Given the description of an element on the screen output the (x, y) to click on. 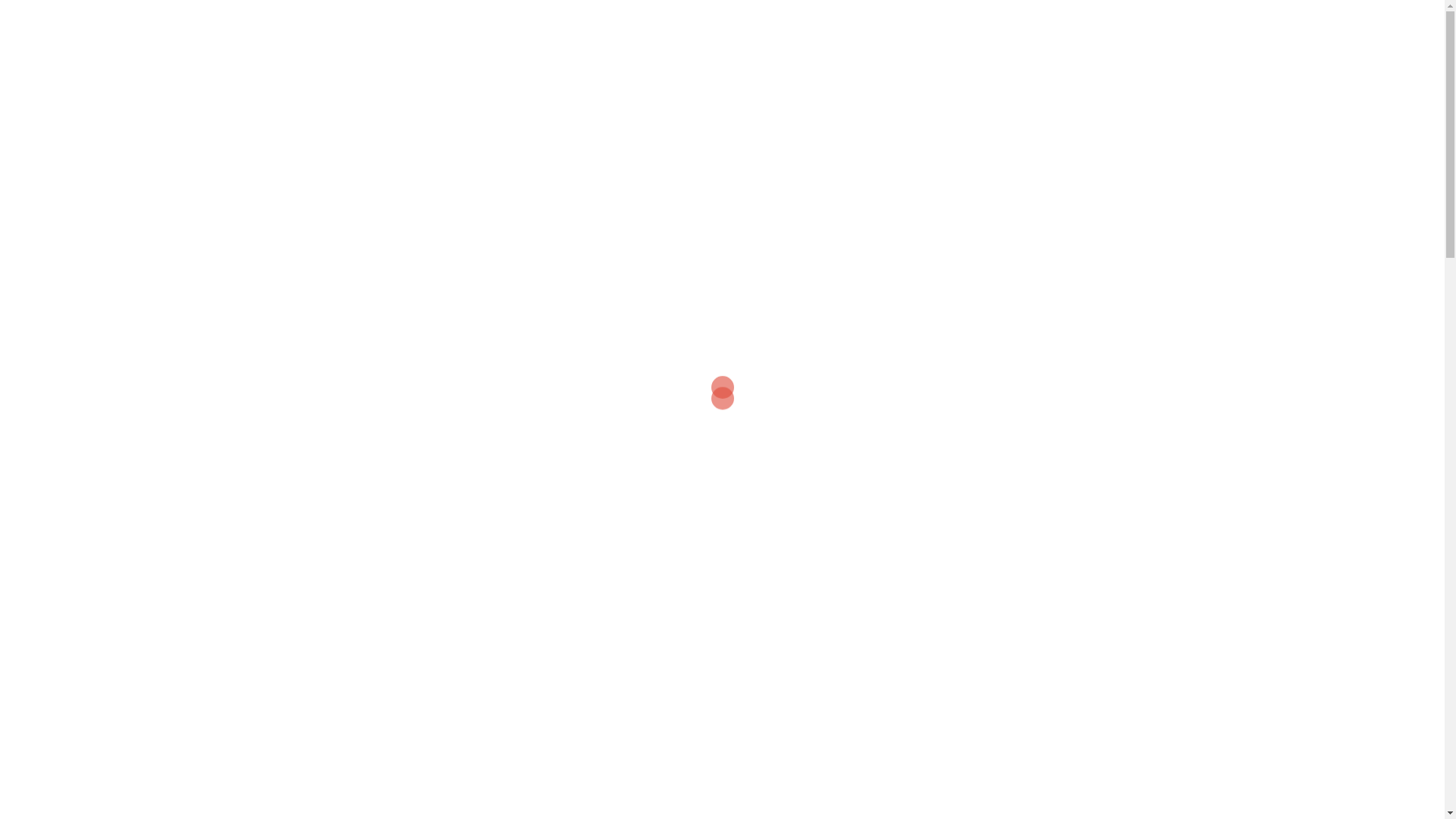
Nous contacter Element type: text (1061, 68)
BD Element type: text (969, 755)
Presse Element type: text (865, 68)
Informations pratiques Element type: text (654, 68)
Auteurs 2020 Element type: text (435, 68)
Rechercher Element type: text (61, 18)
Le projet Cap Bulles Element type: text (534, 68)
Accueil Element type: text (365, 68)
Autres Element type: text (977, 727)
Caricature Element type: text (986, 784)
